Given the description of an element on the screen output the (x, y) to click on. 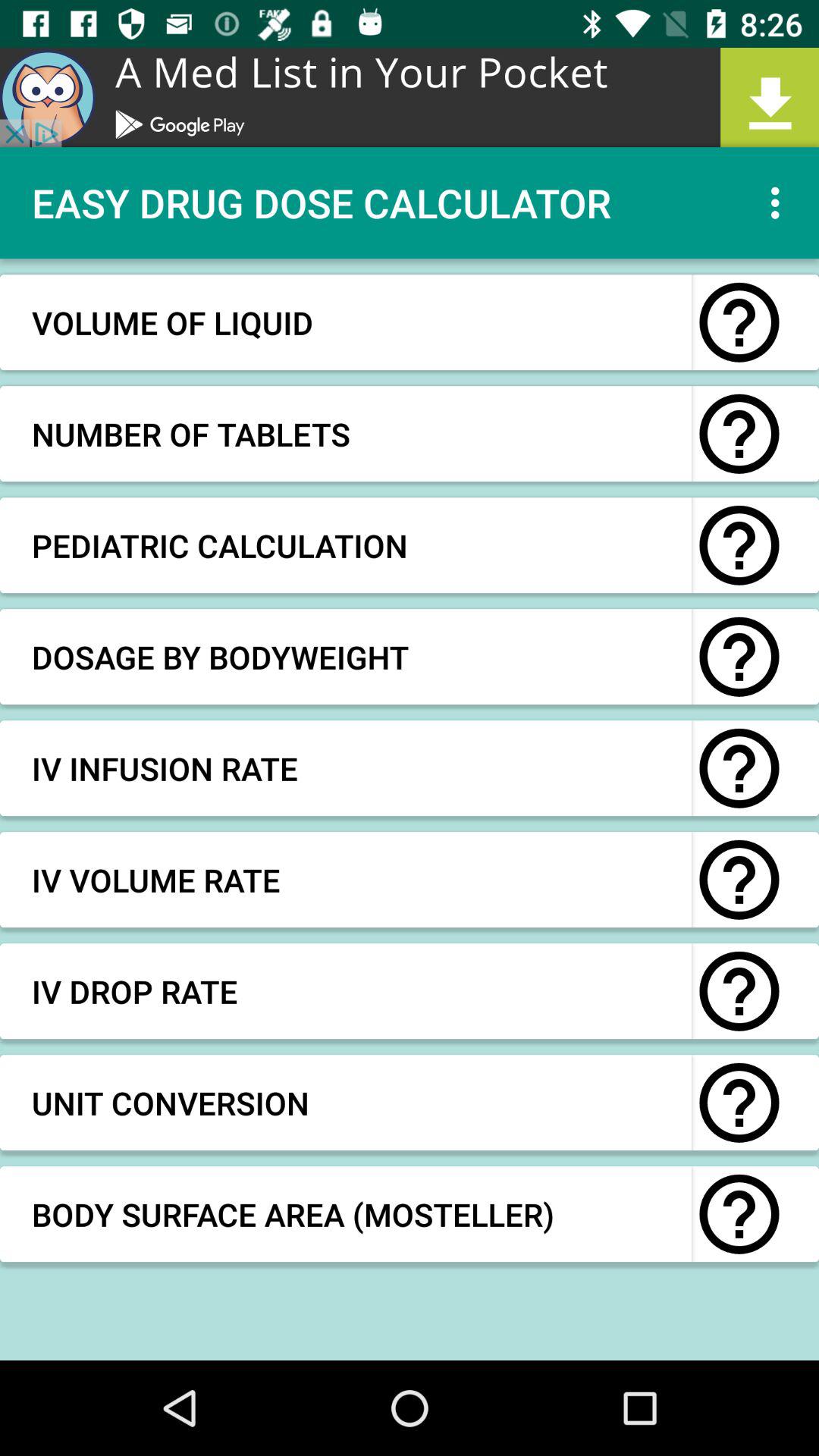
question mark (739, 1214)
